Given the description of an element on the screen output the (x, y) to click on. 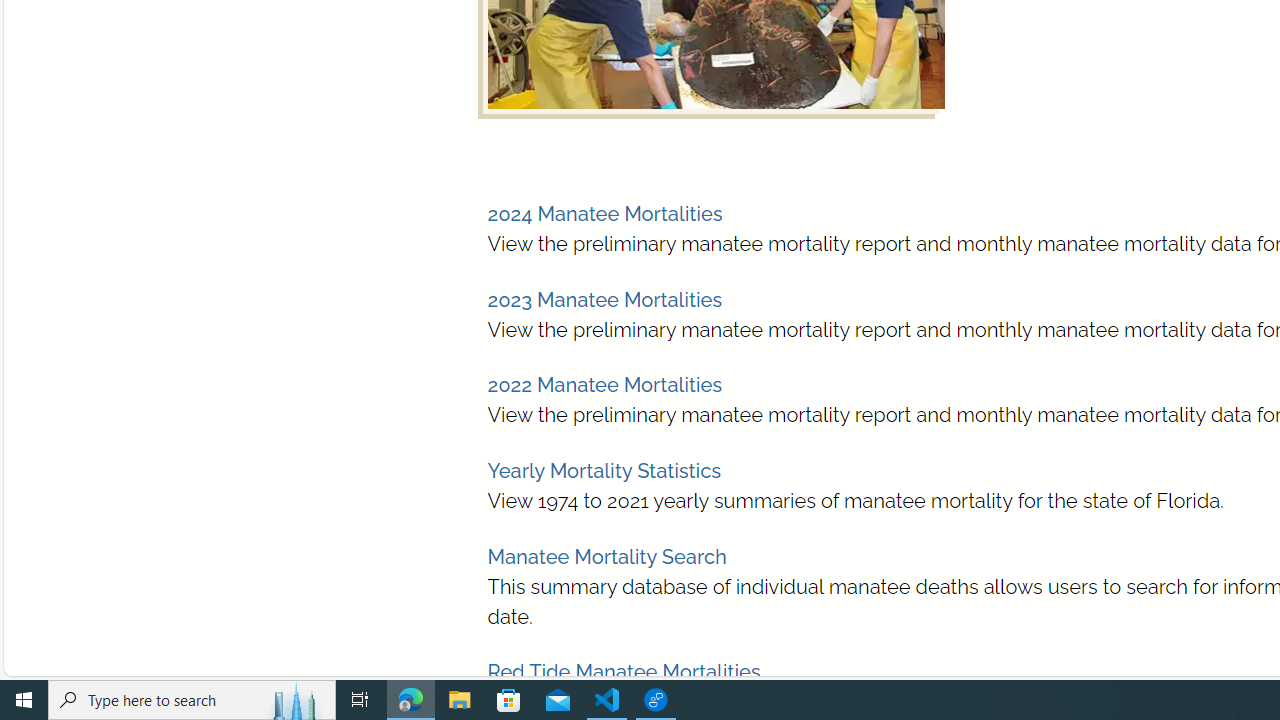
2023 Manatee Mortalities (604, 299)
Red Tide Manatee Mortalities (623, 672)
Yearly Mortality Statistics (603, 471)
Manatee Mortality Search (606, 556)
2022 Manatee Mortalities (603, 385)
2024 Manatee Mortalities (604, 214)
